Given the description of an element on the screen output the (x, y) to click on. 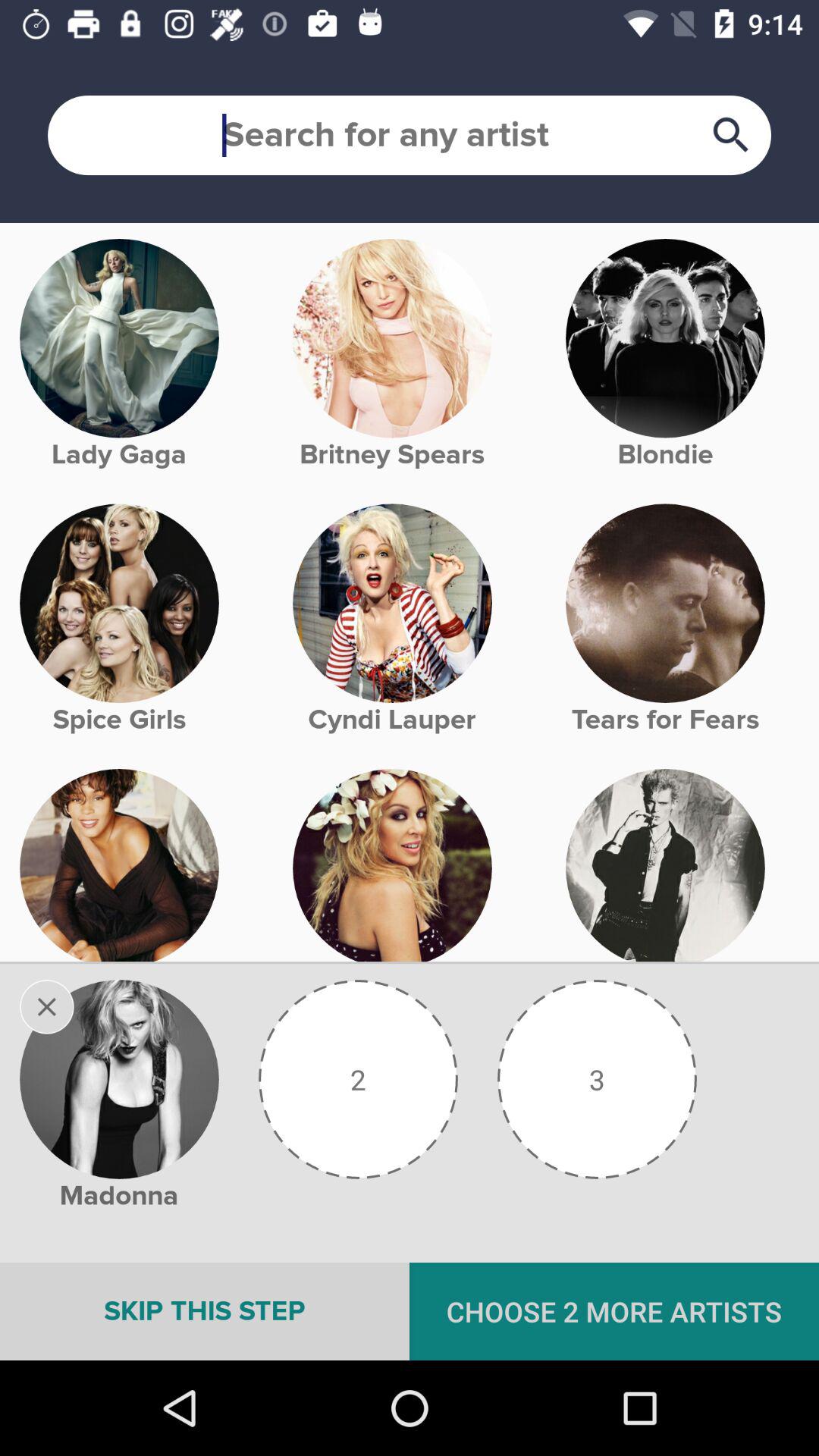
turn off icon below the madonna (204, 1311)
